Given the description of an element on the screen output the (x, y) to click on. 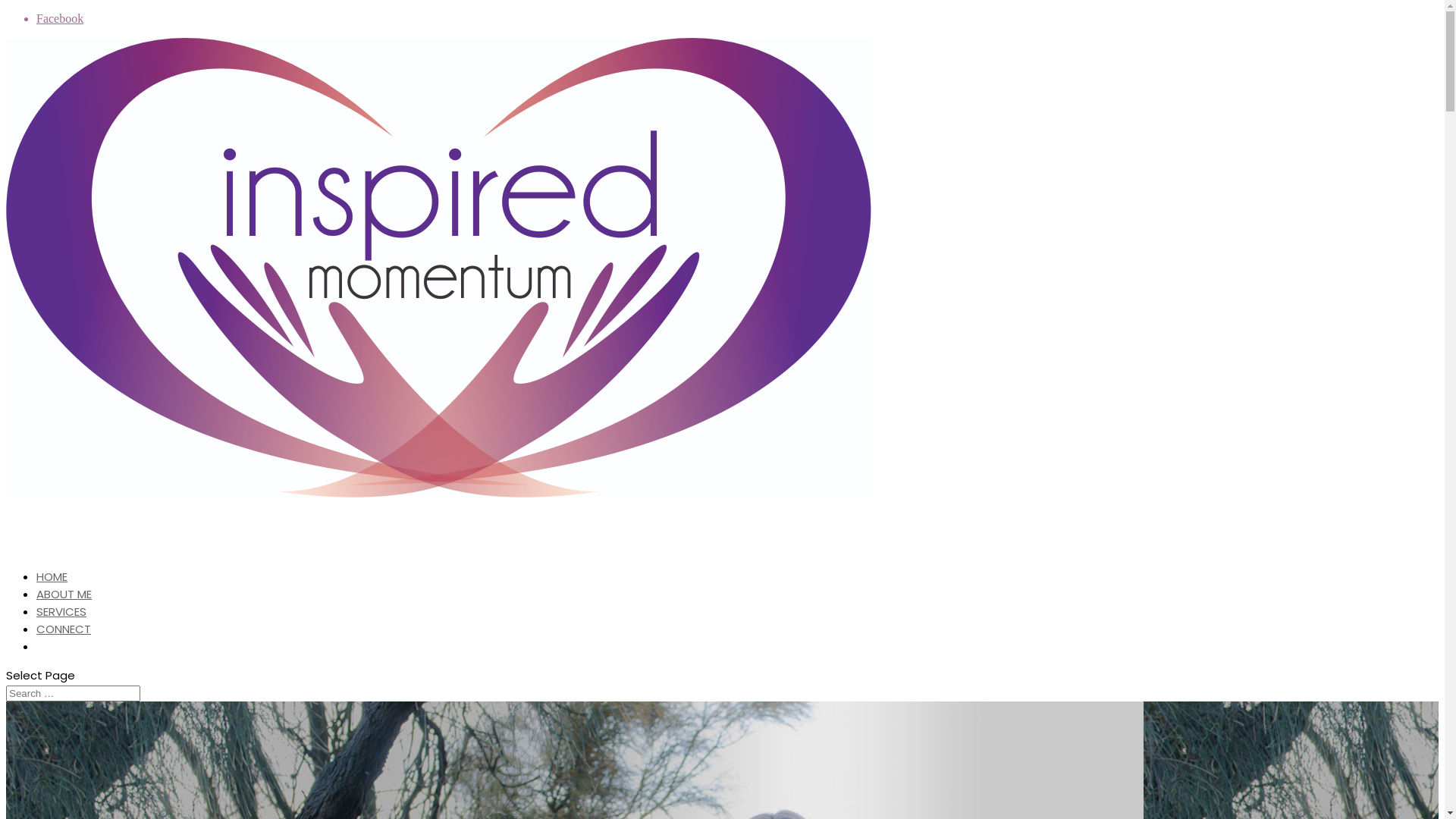
Facebook Element type: text (59, 18)
ABOUT ME Element type: text (63, 621)
HOME Element type: text (51, 603)
SERVICES Element type: text (61, 638)
Search for: Element type: hover (73, 693)
CONNECT Element type: text (63, 656)
BLOGS Element type: text (54, 673)
